Given the description of an element on the screen output the (x, y) to click on. 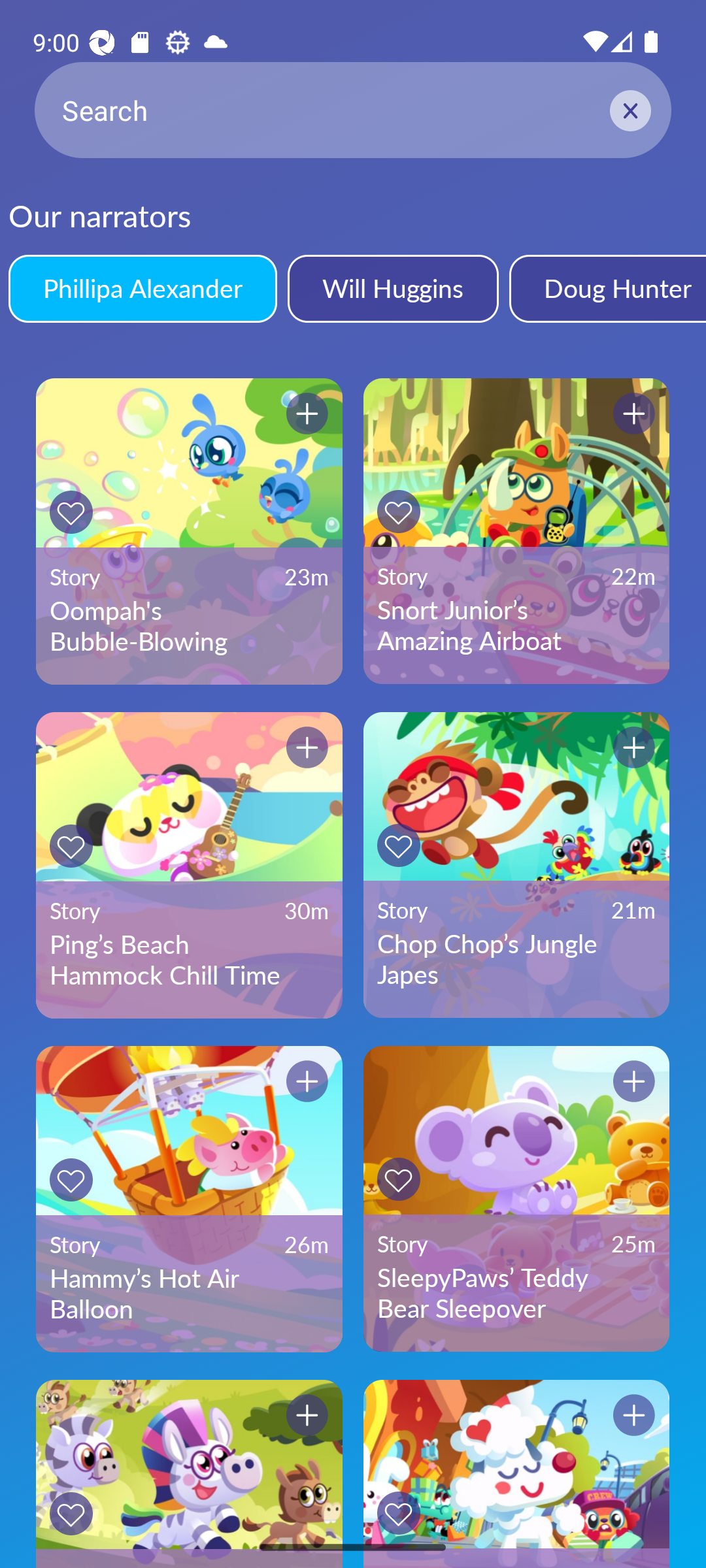
Search (352, 110)
Phillipa Alexander (142, 288)
Will Huggins (392, 288)
Doug Hunter (607, 288)
Button (307, 413)
Button (633, 413)
Button (398, 510)
Button (71, 511)
Button (307, 746)
Button (633, 746)
Button (398, 844)
Button (71, 845)
Button (307, 1080)
Button (633, 1080)
Button (398, 1178)
Button (71, 1179)
Button (307, 1414)
Button (633, 1414)
Featured Content Button Button Story 23m (189, 1473)
Featured Content Button Button Story 18m (516, 1473)
Button (398, 1512)
Button (71, 1513)
